Given the description of an element on the screen output the (x, y) to click on. 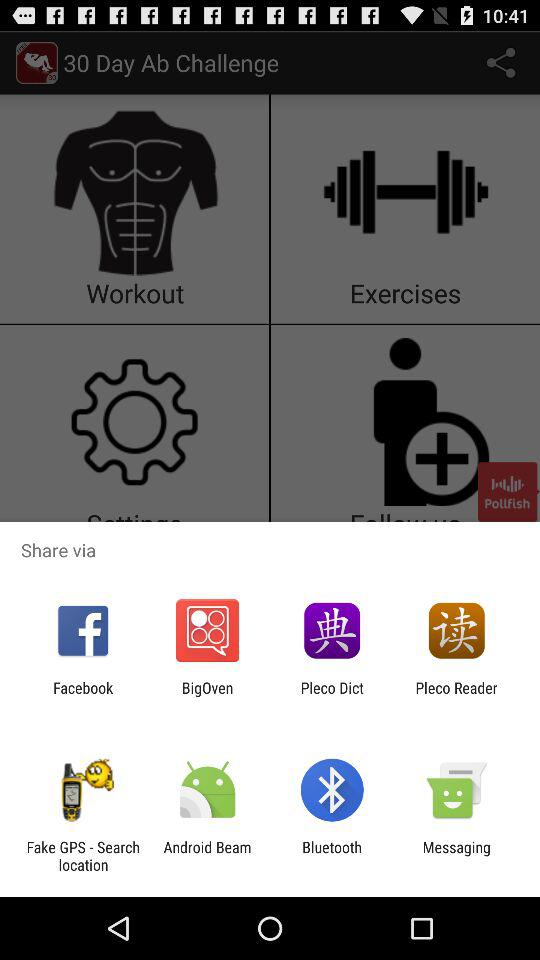
launch app to the right of facebook icon (207, 696)
